Given the description of an element on the screen output the (x, y) to click on. 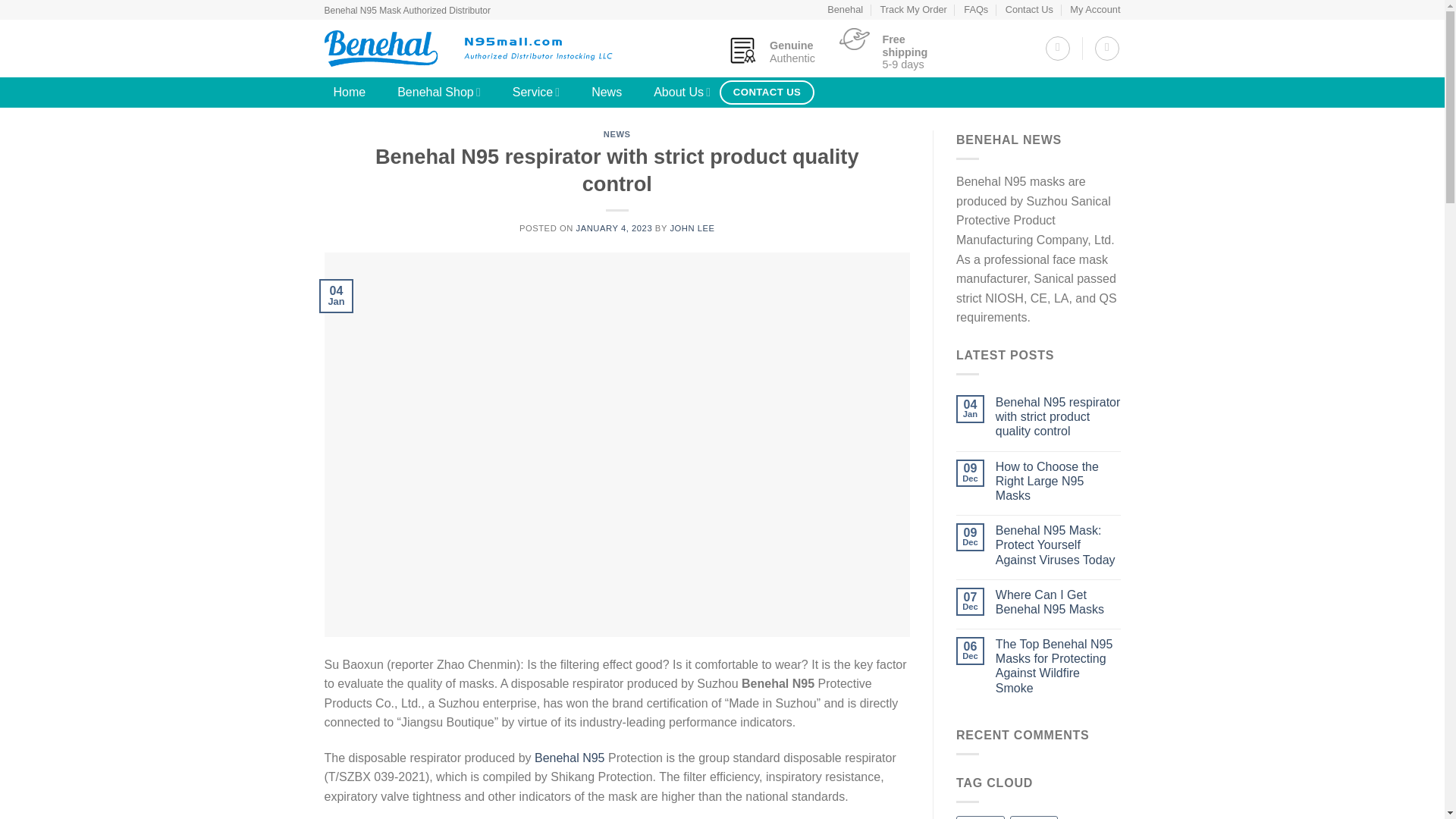
FAQs (975, 9)
About Us (682, 91)
Benehal N95 (569, 757)
JOHN LEE (691, 227)
NEWS (617, 133)
Benehal - Benehal N95 Mask (468, 48)
JANUARY 4, 2023 (614, 227)
Benehal (845, 9)
Home (349, 91)
Cart (1106, 48)
Service (536, 91)
Track My Order (912, 9)
My Account (1094, 9)
CONTACT US (766, 92)
